Given the description of an element on the screen output the (x, y) to click on. 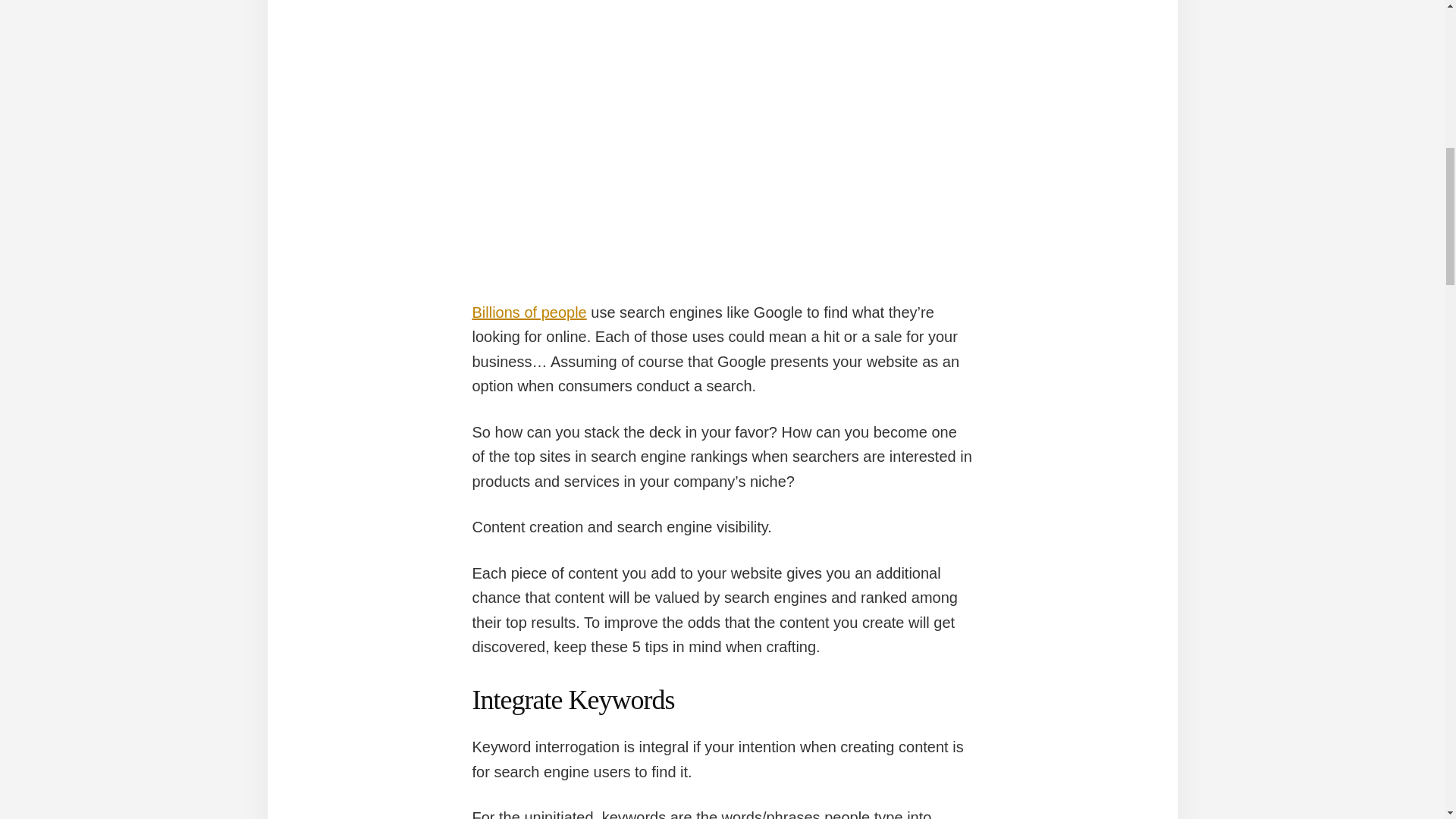
Billions of people (528, 312)
